Given the description of an element on the screen output the (x, y) to click on. 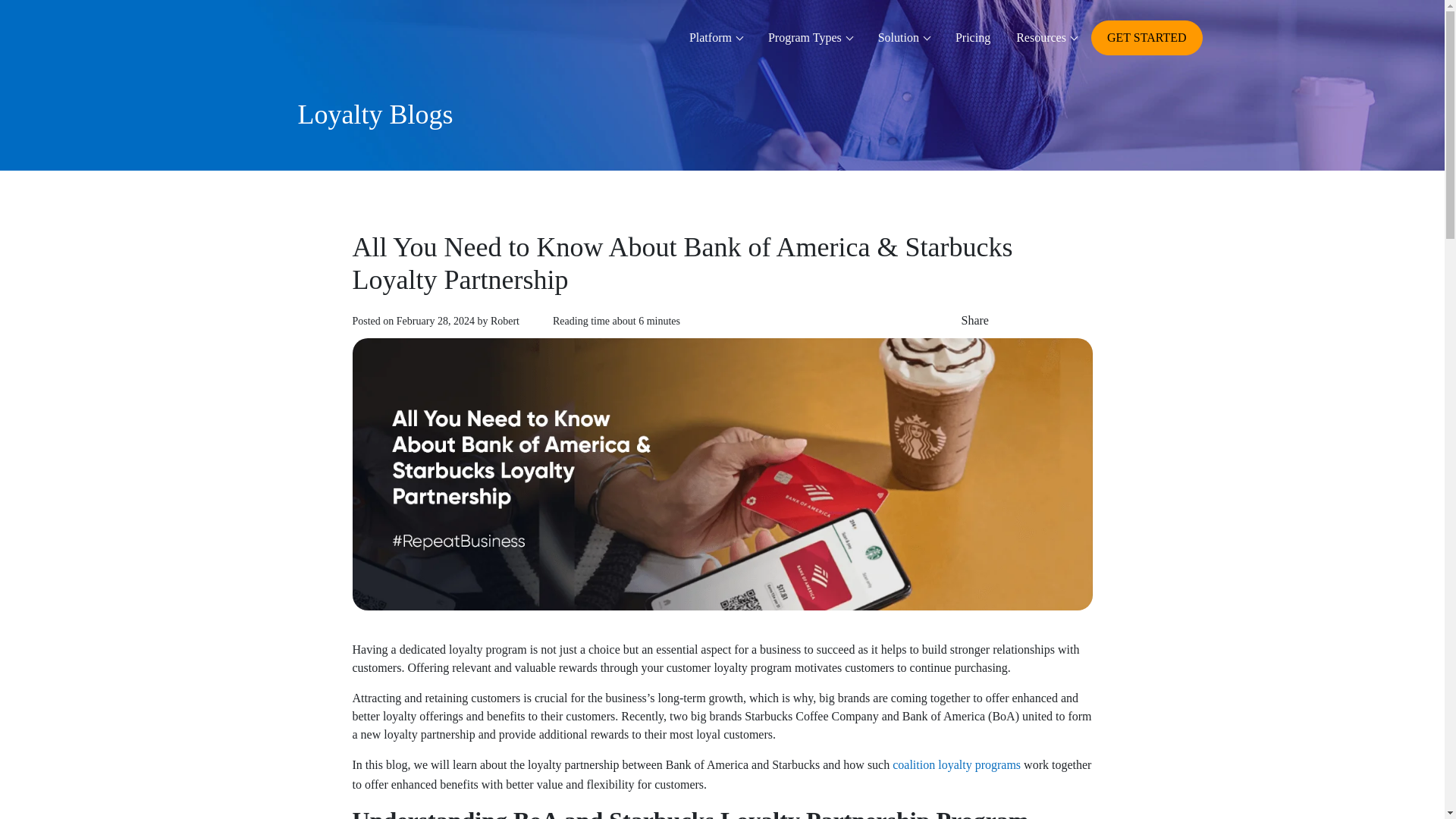
Program Types (810, 37)
GET STARTED (1146, 37)
Platform (716, 37)
Pricing (972, 37)
Resources (1045, 37)
Solution (903, 37)
